Given the description of an element on the screen output the (x, y) to click on. 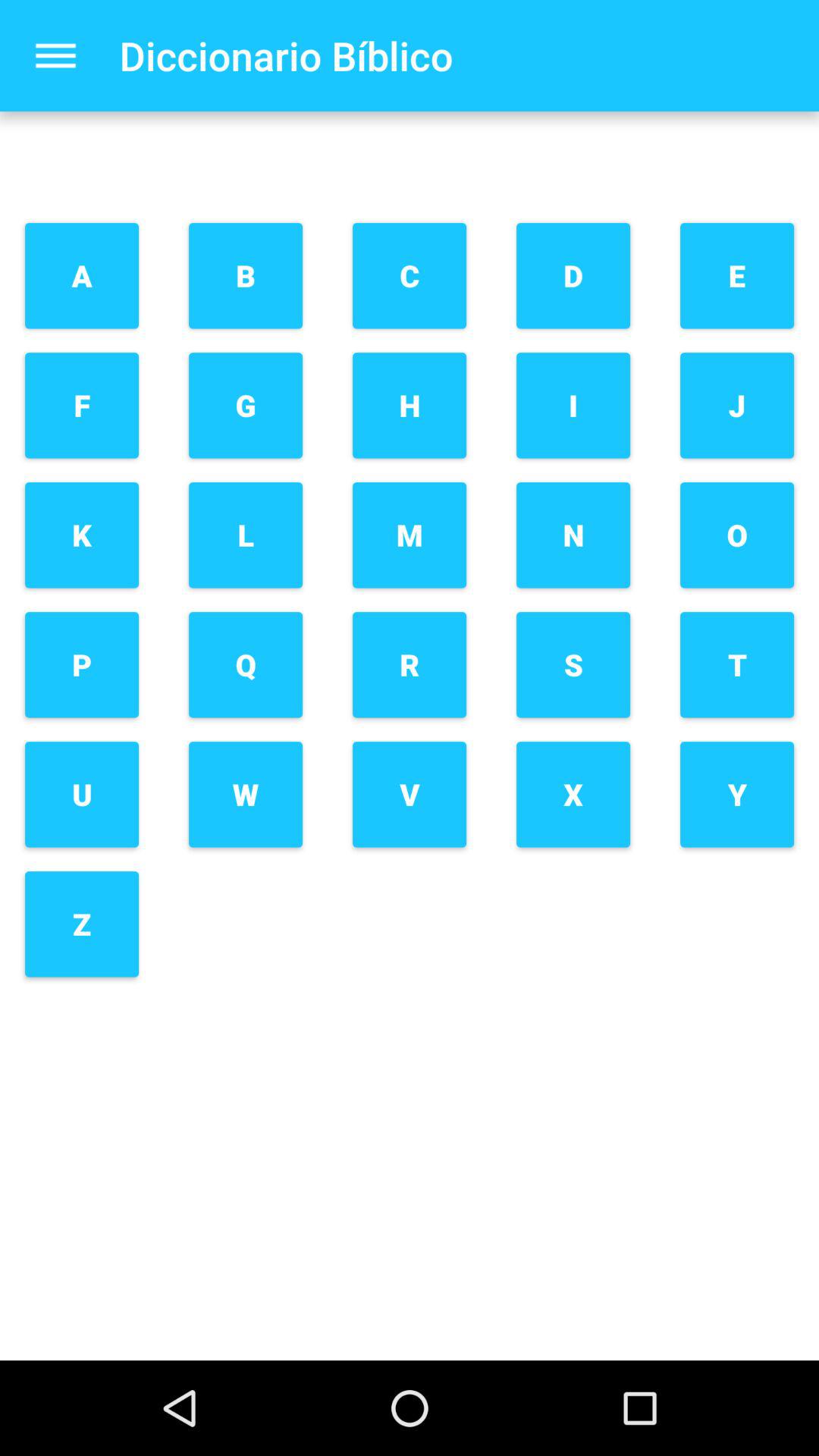
launch l item (245, 535)
